Given the description of an element on the screen output the (x, y) to click on. 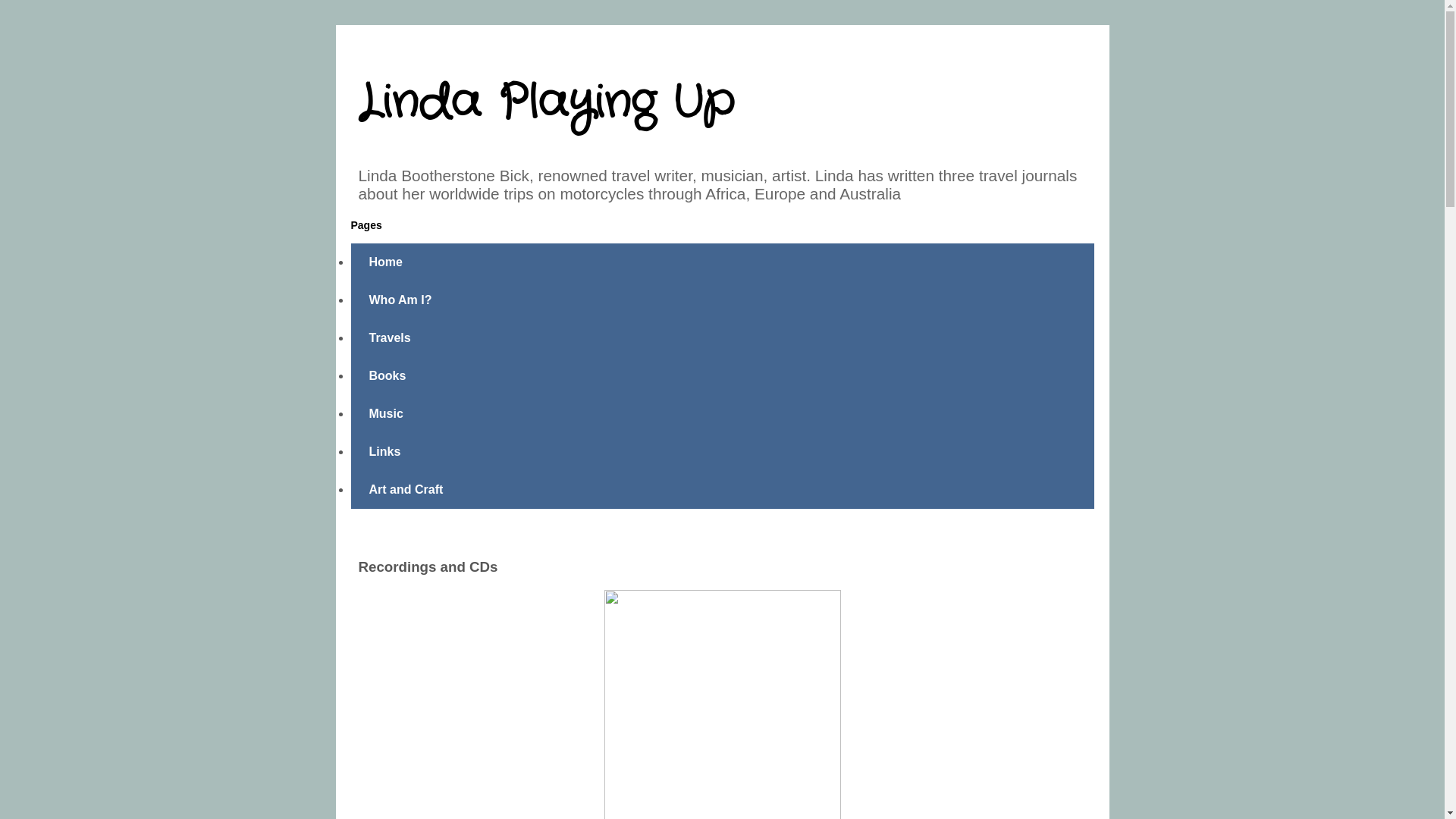
Links Element type: text (384, 451)
Art and Craft Element type: text (405, 489)
Travels Element type: text (389, 338)
Books Element type: text (386, 376)
Home Element type: text (385, 262)
Who Am I? Element type: text (399, 300)
Linda Playing Up Element type: text (545, 102)
Music Element type: text (385, 414)
